Given the description of an element on the screen output the (x, y) to click on. 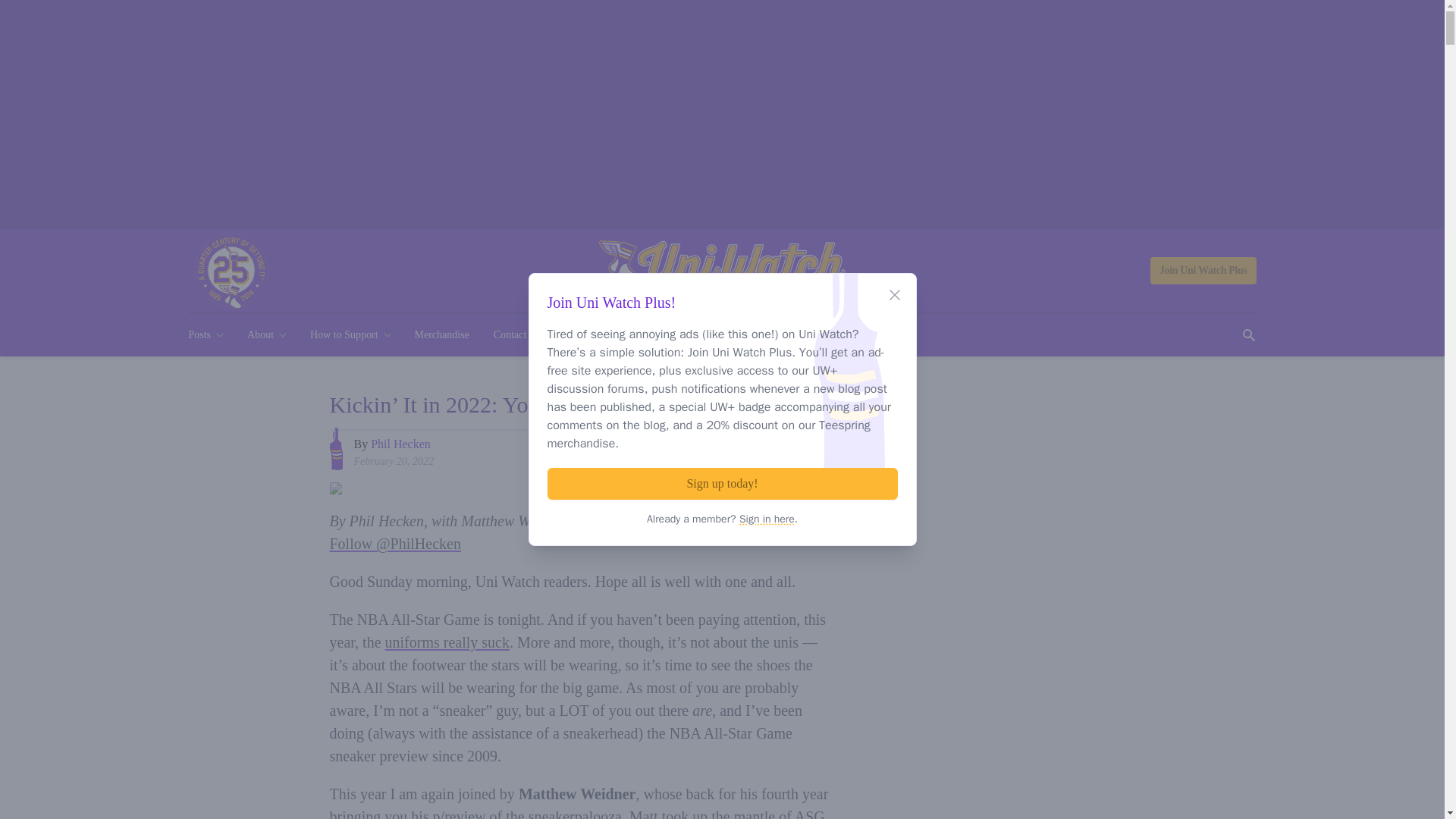
Share on Twitter (796, 450)
Uni Watch (721, 270)
Sign in here (766, 518)
Uni Watch (721, 270)
Share on Facebook (768, 450)
Join Uni Watch Plus (1203, 270)
Close (894, 294)
Sign up today! (722, 483)
